Given the description of an element on the screen output the (x, y) to click on. 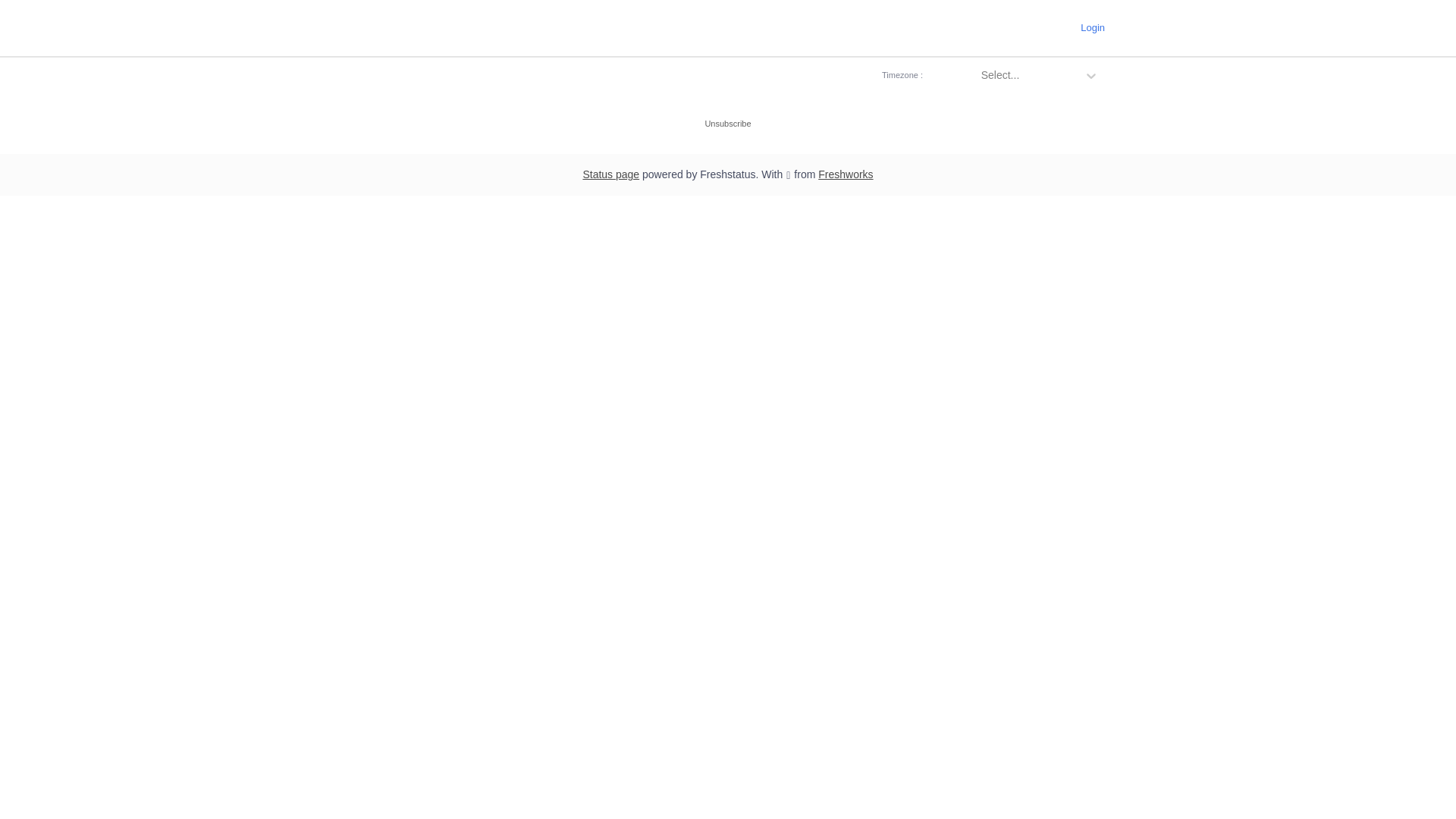
Status page Element type: text (610, 174)
Freshworks Element type: text (845, 174)
